Given the description of an element on the screen output the (x, y) to click on. 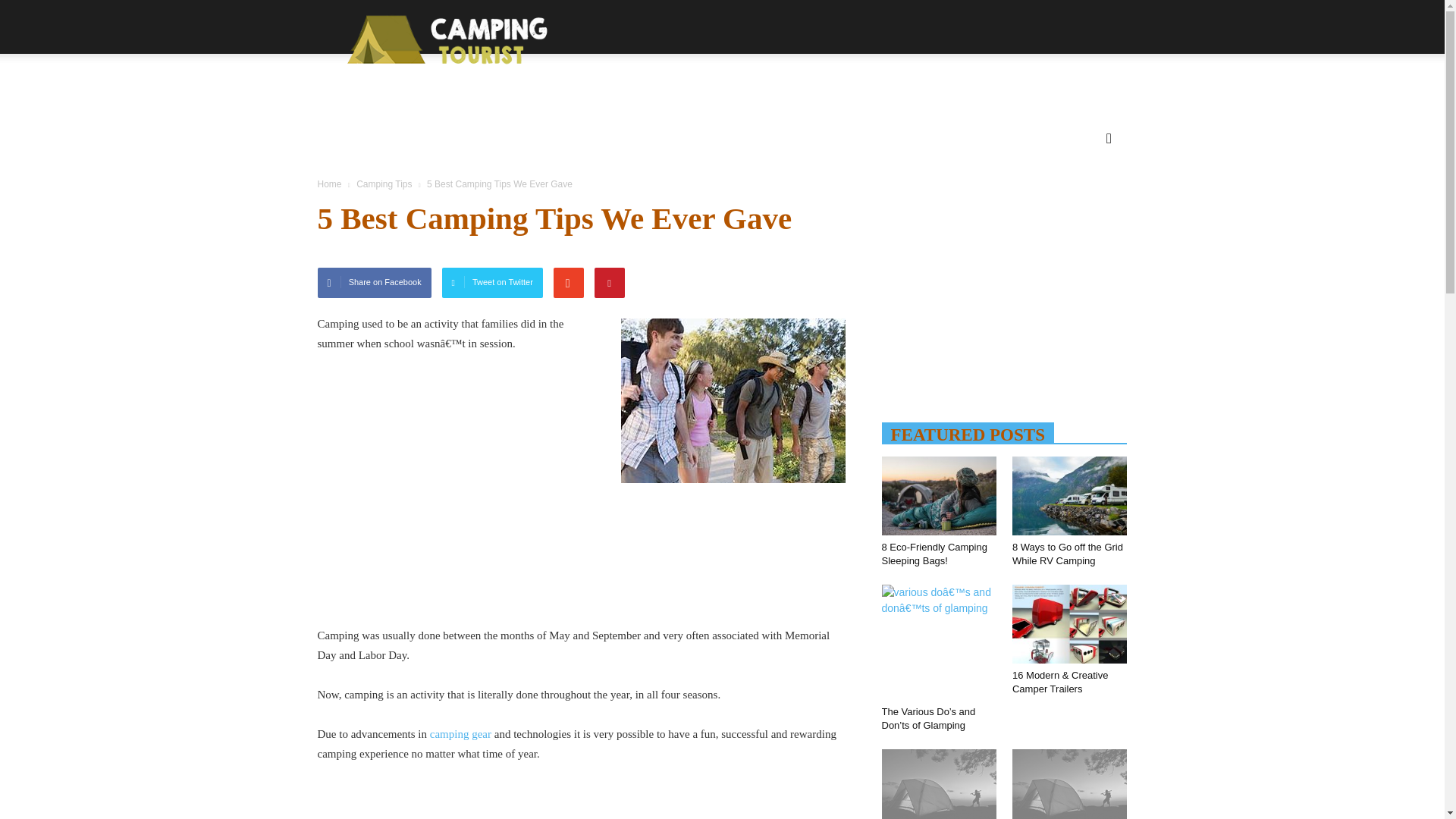
CAMPING TIPS (842, 130)
View all posts in Camping Tips (385, 184)
campingtourist.com (442, 40)
CAMPING SPOTS (585, 130)
Camping Tourist (442, 39)
camping (732, 400)
Advertisement (580, 800)
CAMPING GEAR (717, 130)
Advertisement (580, 553)
CAMPING ACTIVITIES (426, 130)
